Given the description of an element on the screen output the (x, y) to click on. 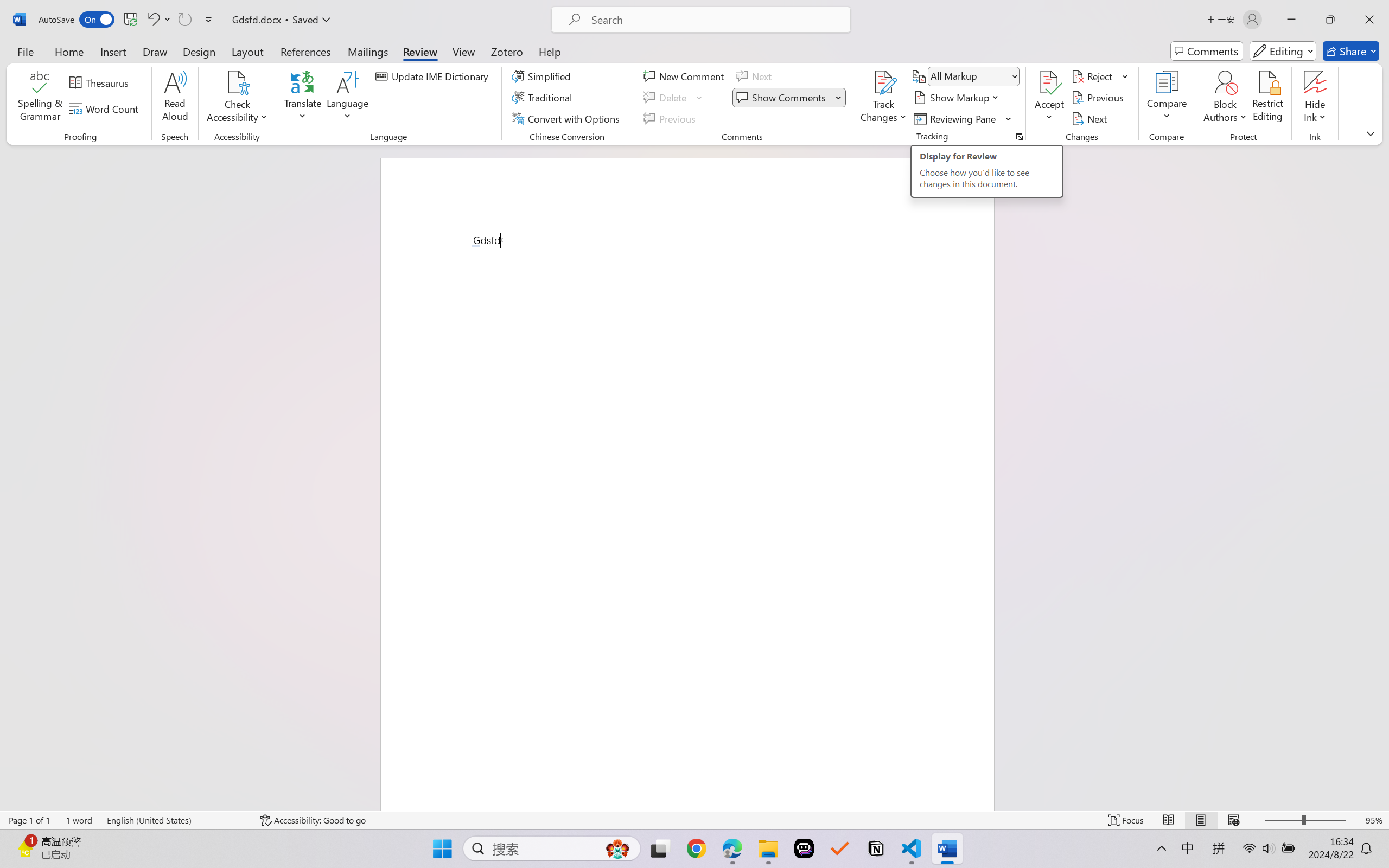
Block Authors (1224, 81)
Class: MsoCommandBar (694, 819)
Hide Ink (1315, 97)
New Comment (685, 75)
Show Markup (957, 97)
Can't Repeat (184, 19)
Translate (303, 97)
